Given the description of an element on the screen output the (x, y) to click on. 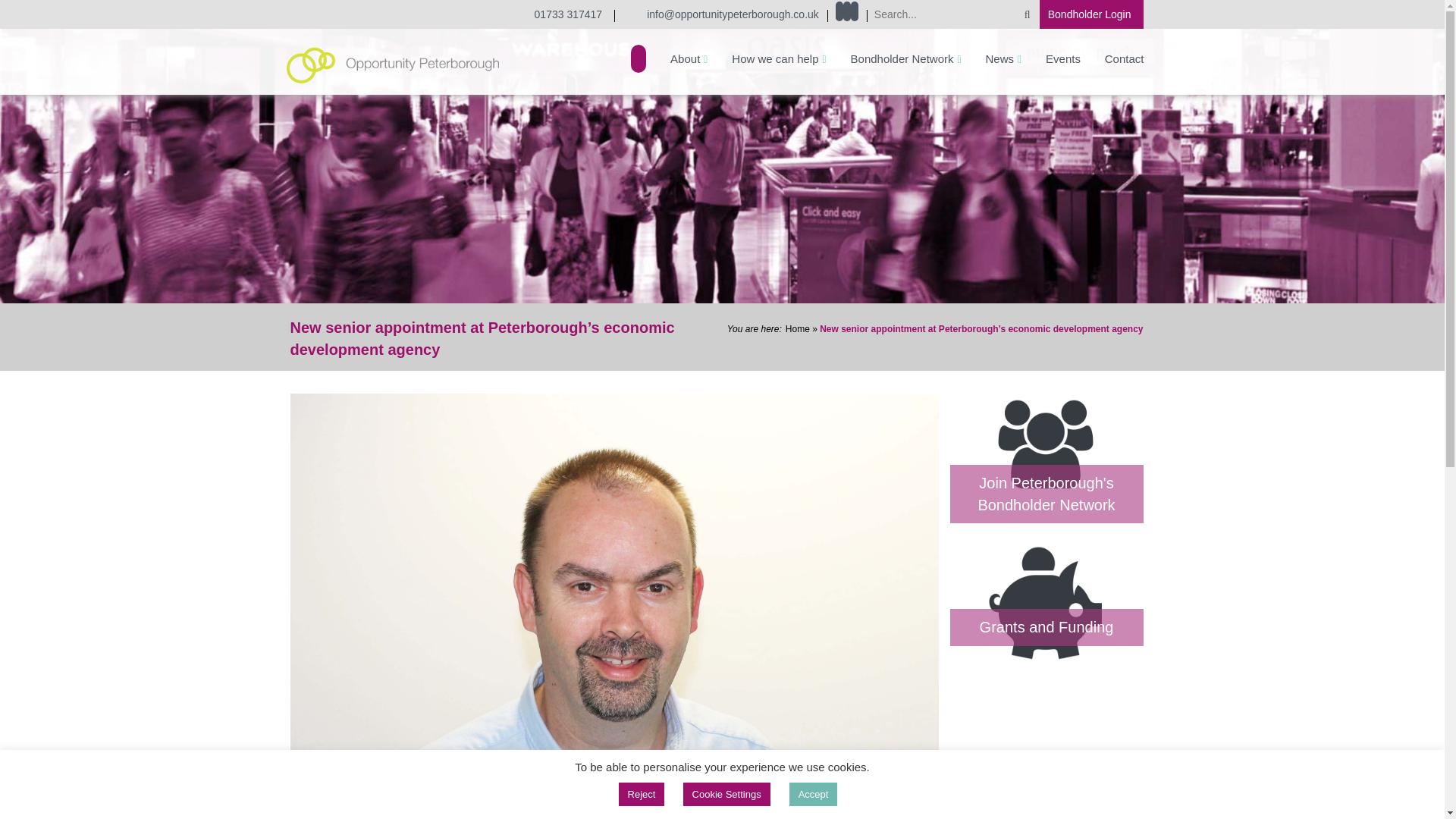
Opportunity Peterborough (392, 64)
